Given the description of an element on the screen output the (x, y) to click on. 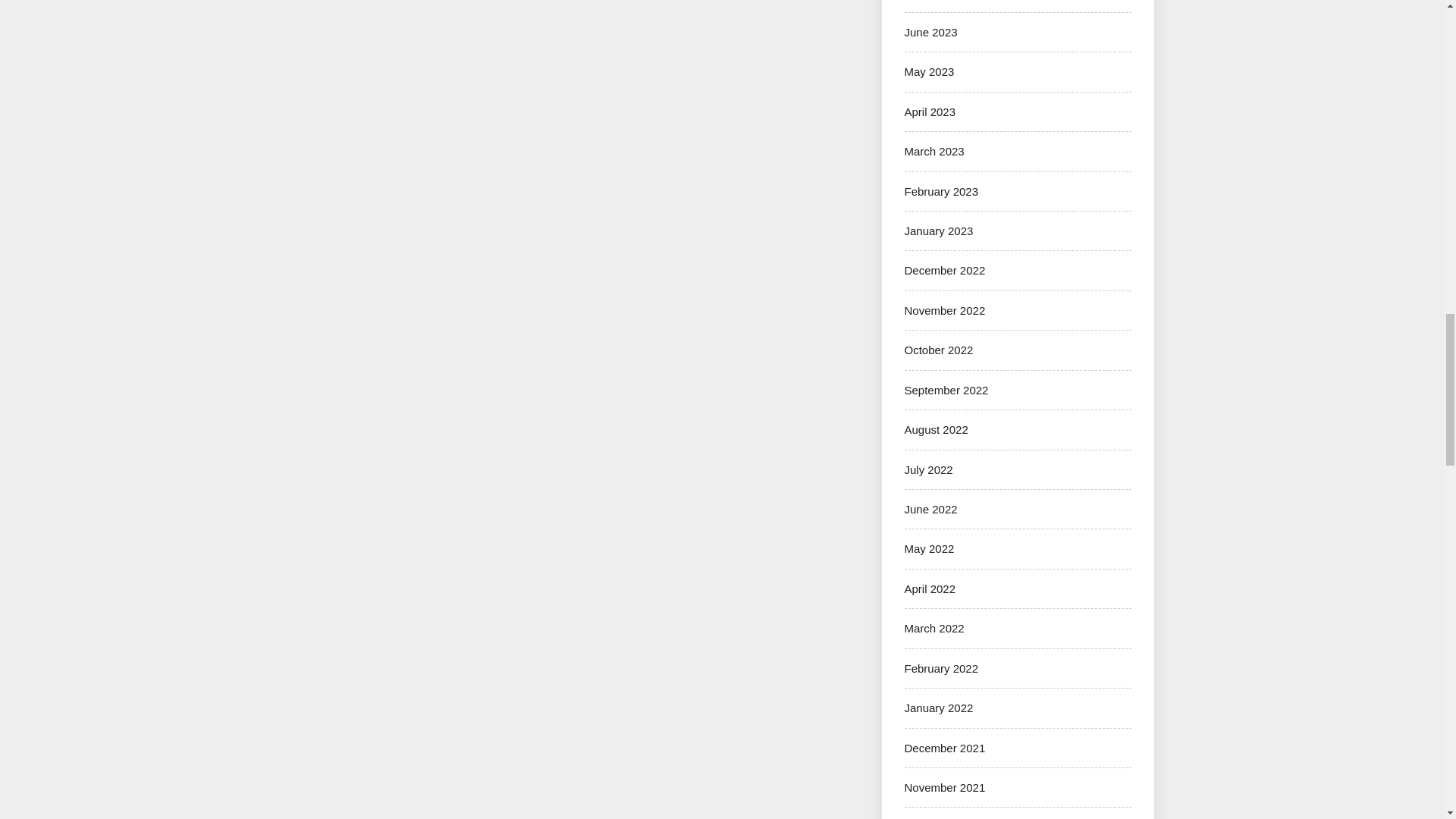
May 2023 (928, 71)
June 2023 (930, 31)
